Given the description of an element on the screen output the (x, y) to click on. 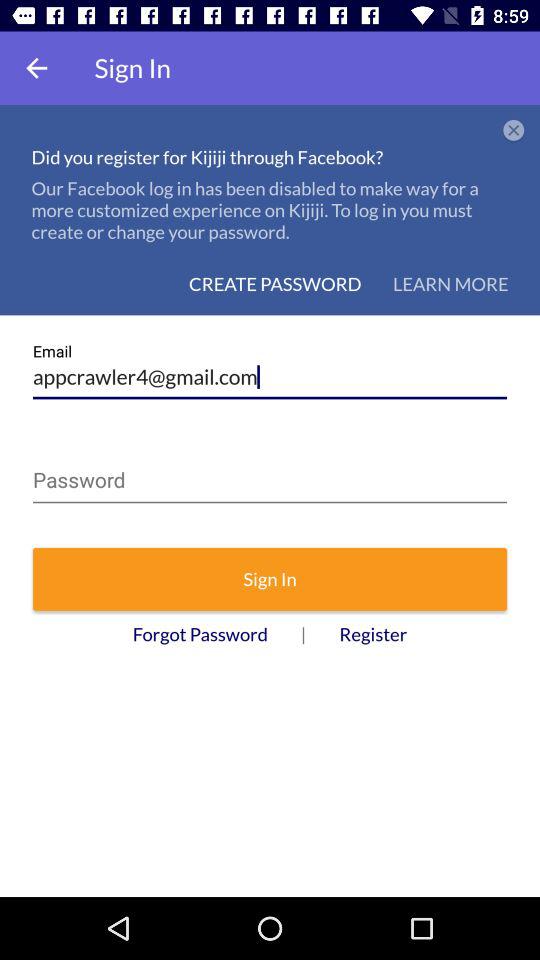
choose the icon below the appcrawler4@gmail.com icon (270, 475)
